Given the description of an element on the screen output the (x, y) to click on. 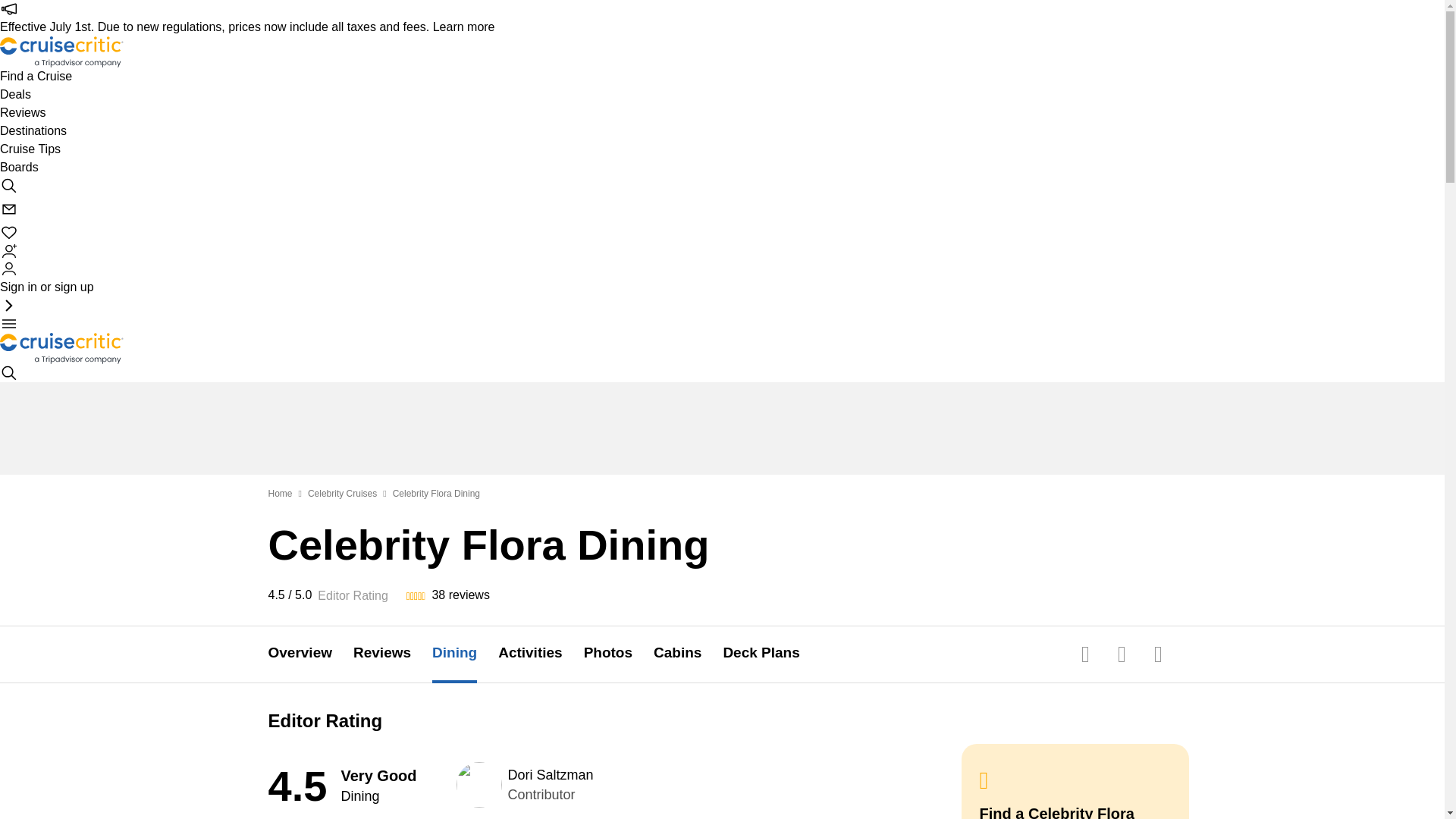
38 reviews (459, 594)
Find a Cruise (35, 75)
Deals (15, 94)
Home (279, 493)
Cabins (687, 654)
Destinations (33, 131)
Cruise Tips (30, 149)
Reviews (392, 654)
Activities (540, 654)
Dining (464, 654)
